Given the description of an element on the screen output the (x, y) to click on. 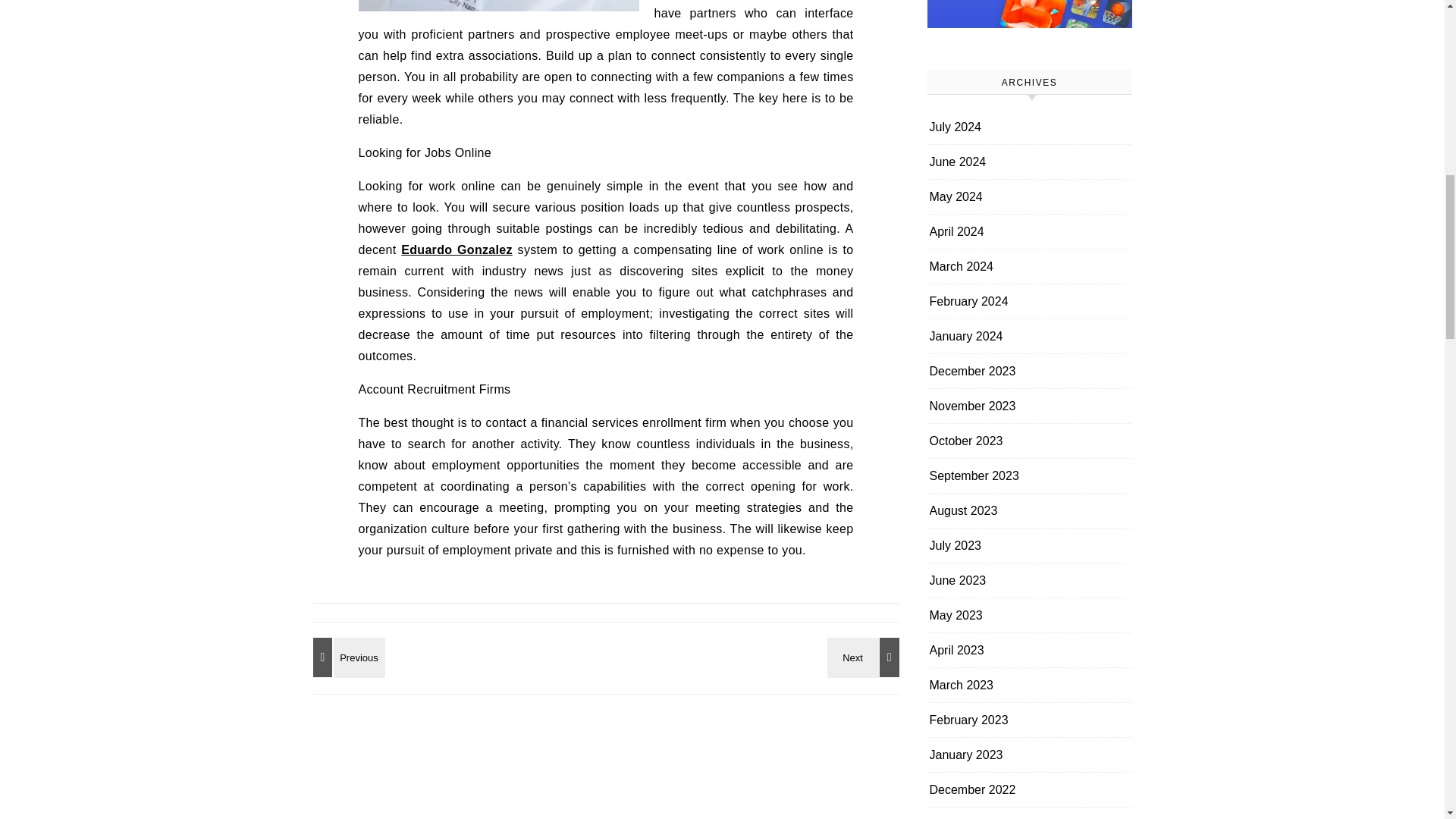
July 2024 (955, 126)
December 2023 (973, 370)
Eduardo Gonzalez (456, 249)
November 2023 (973, 406)
April 2024 (957, 231)
February 2024 (969, 301)
June 2024 (958, 161)
January 2024 (966, 335)
Act sight full dream of watching classic movies online (346, 657)
March 2024 (962, 266)
May 2024 (956, 196)
